Given the description of an element on the screen output the (x, y) to click on. 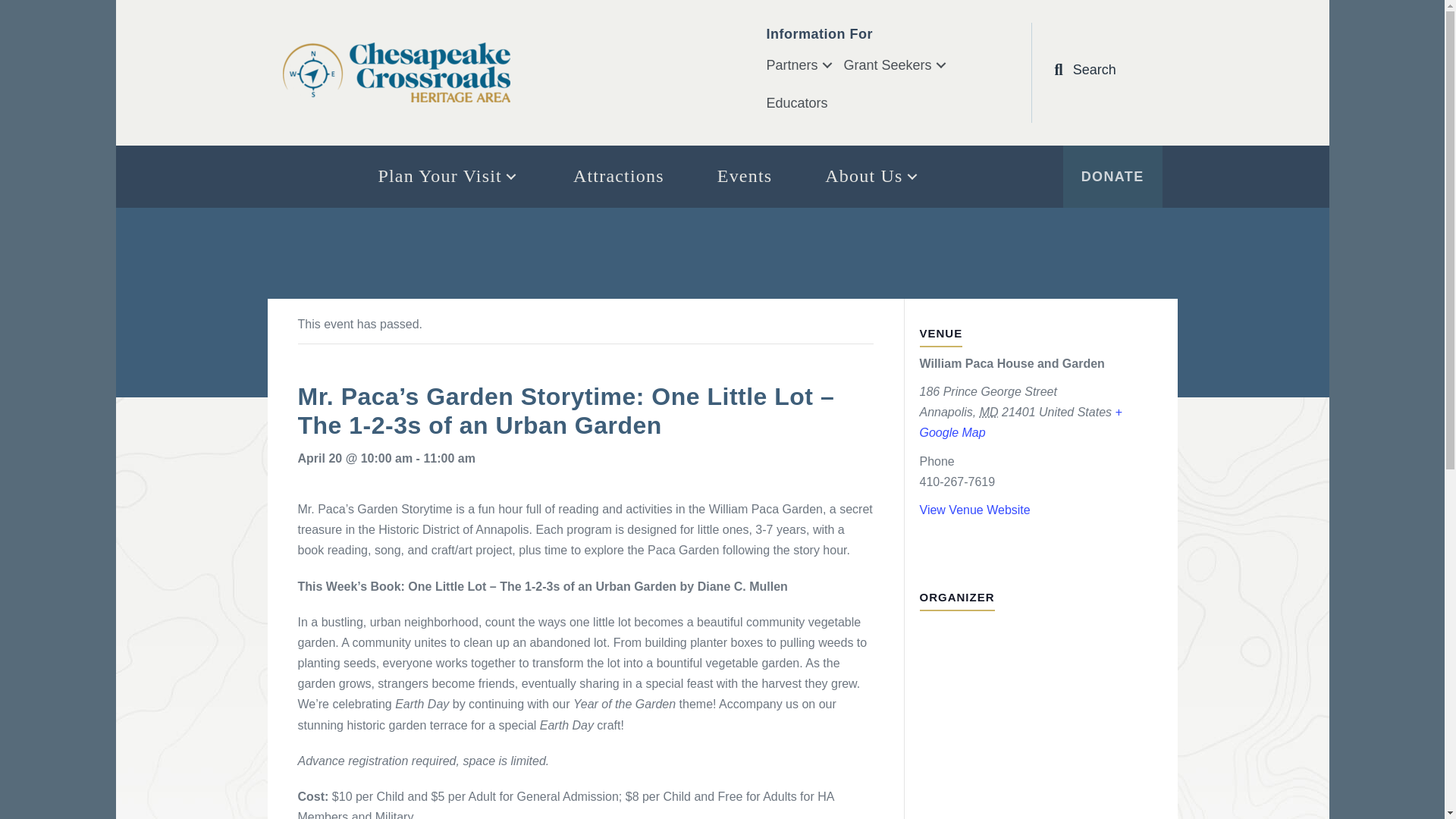
Click to view a Google Map (1019, 421)
Events (745, 176)
Maryland (988, 411)
Plan Your Visit (448, 176)
Grant Seekers (901, 65)
Attractions (618, 176)
Partners (804, 65)
DONATE (1111, 176)
About Us (872, 176)
Search (1084, 69)
Educators (799, 103)
